Given the description of an element on the screen output the (x, y) to click on. 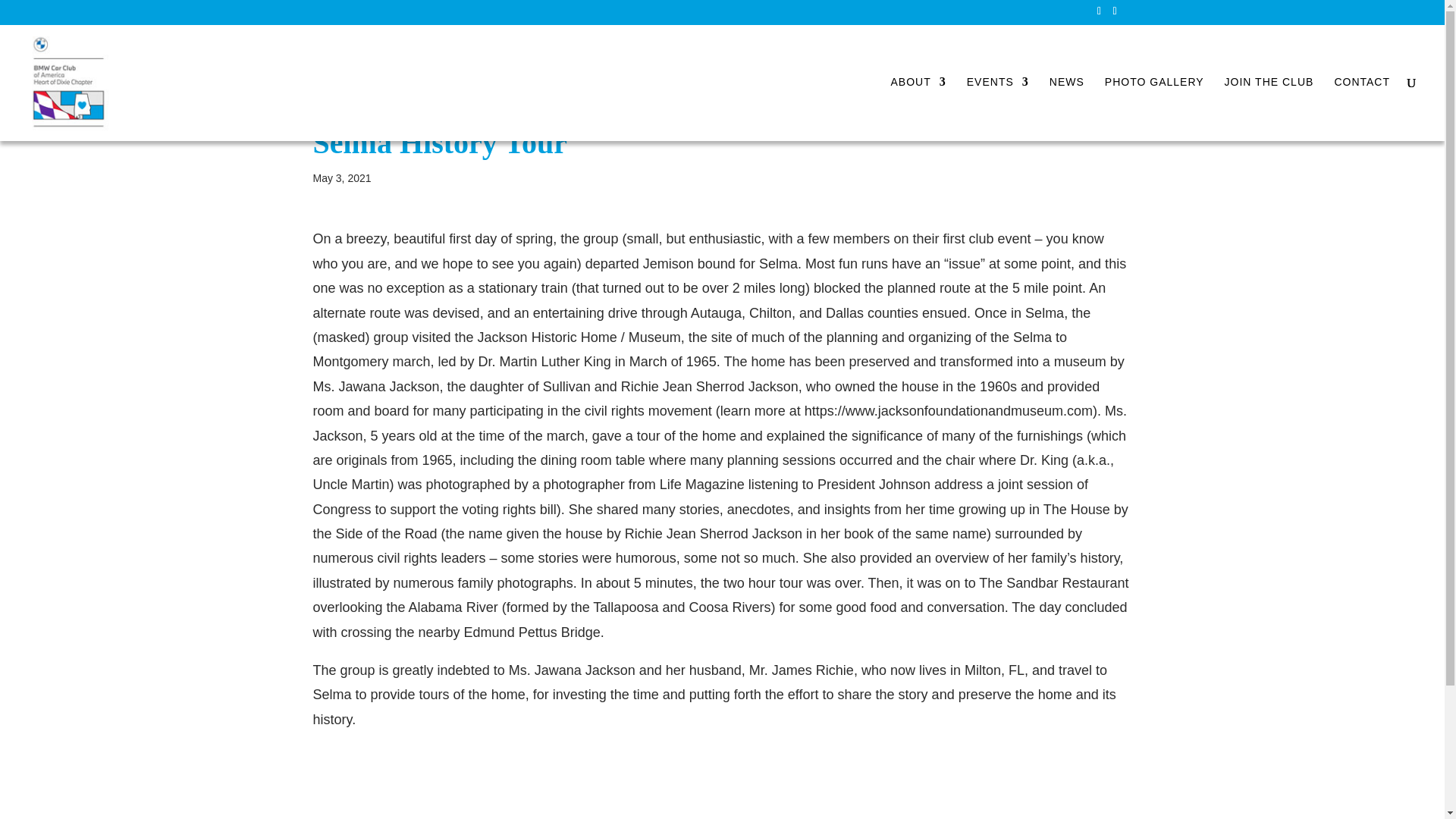
PHOTO GALLERY (1154, 108)
EVENTS (997, 108)
JOIN THE CLUB (1269, 108)
